Given the description of an element on the screen output the (x, y) to click on. 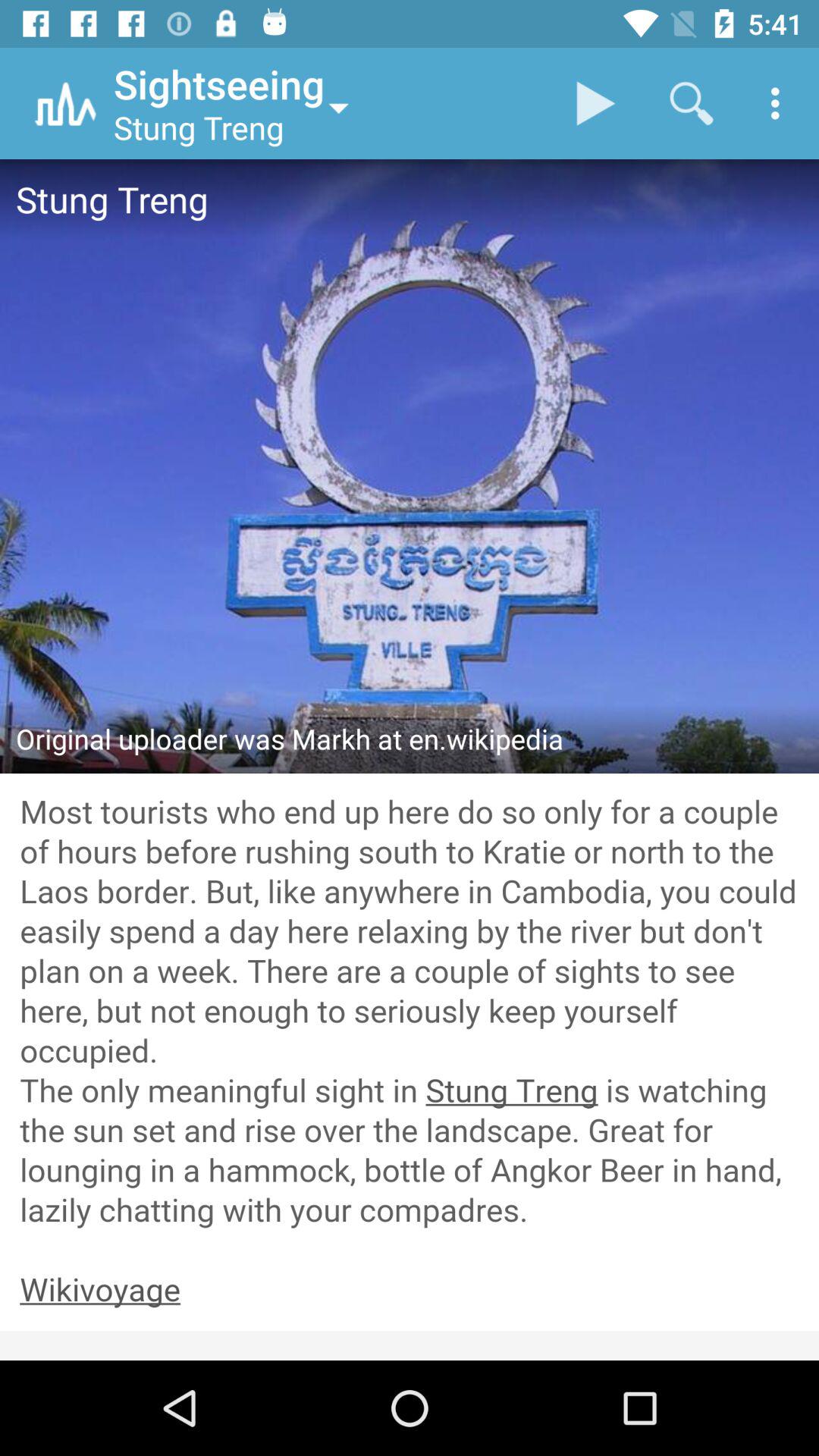
go back (409, 1290)
